Given the description of an element on the screen output the (x, y) to click on. 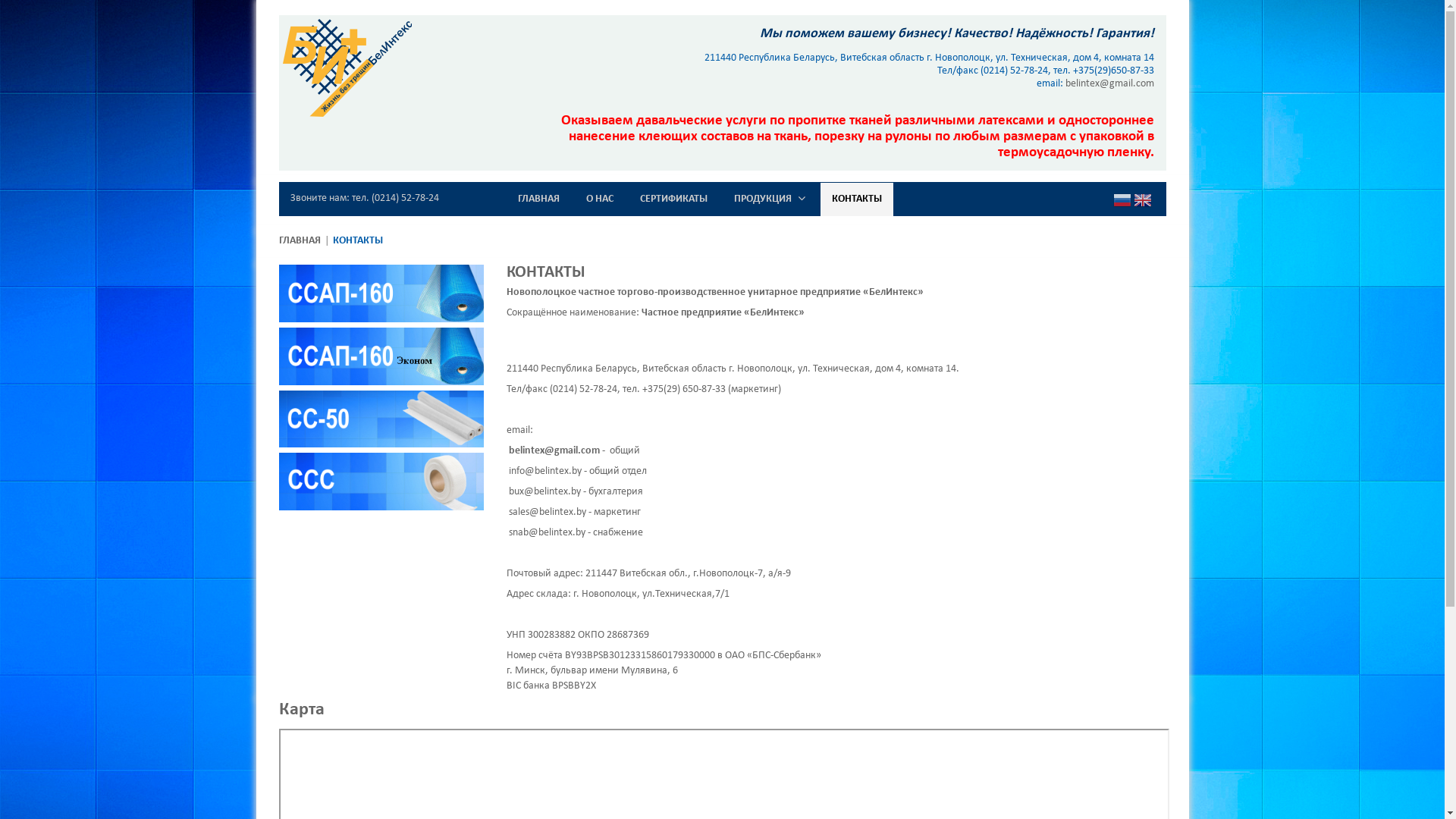
bux@belintex.by Element type: text (544, 491)
belintex@gmail.com Element type: text (553, 450)
sales@belintex.by Element type: text (546, 511)
snab@belintex.by Element type: text (546, 532)
belintex@gmail.com Element type: text (1109, 83)
English Element type: hover (1141, 200)
Russian Element type: hover (1122, 200)
info@belintex.by Element type: text (544, 470)
